Given the description of an element on the screen output the (x, y) to click on. 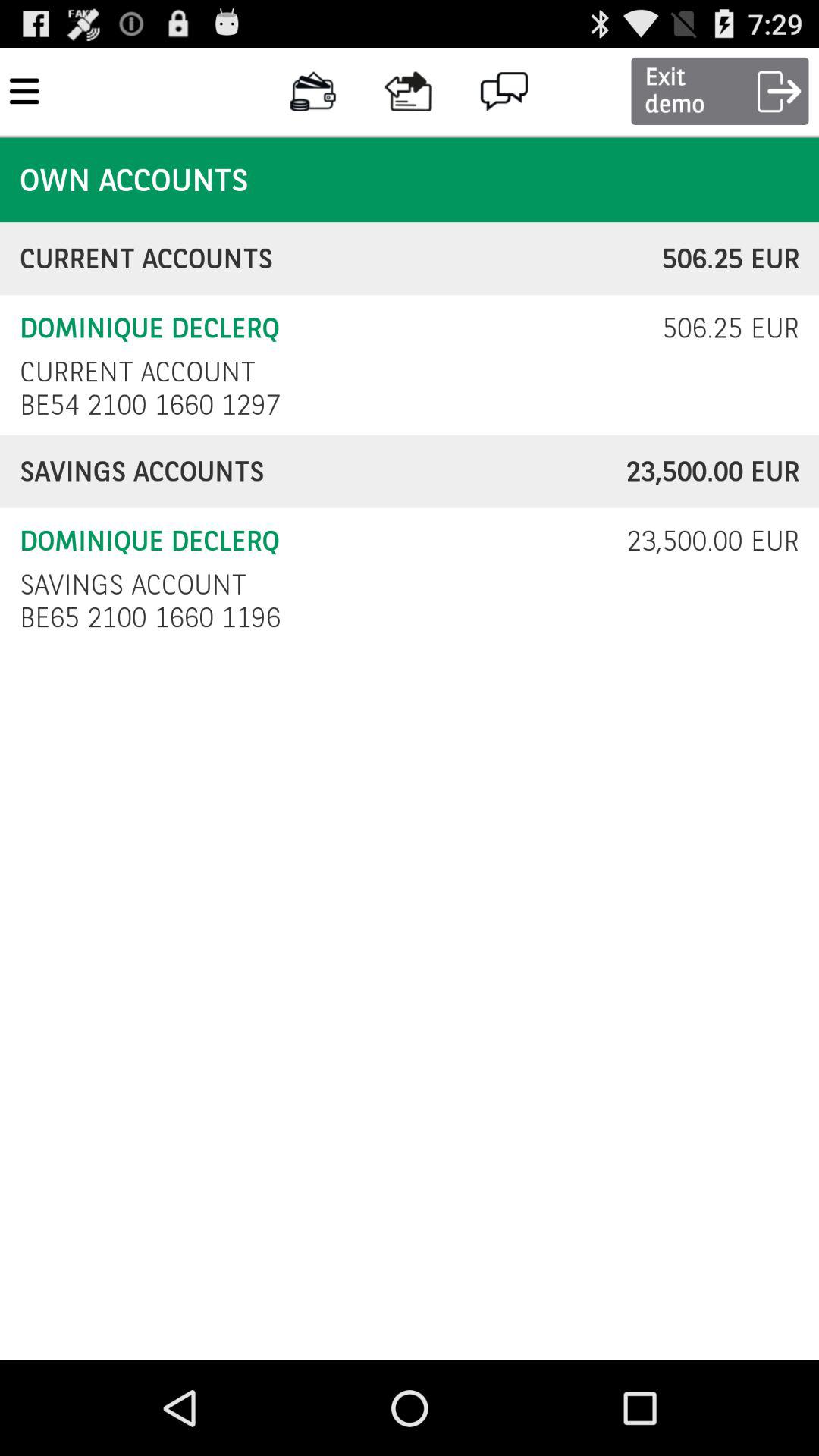
choose the icon above be54 2100 1660 checkbox (137, 371)
